Given the description of an element on the screen output the (x, y) to click on. 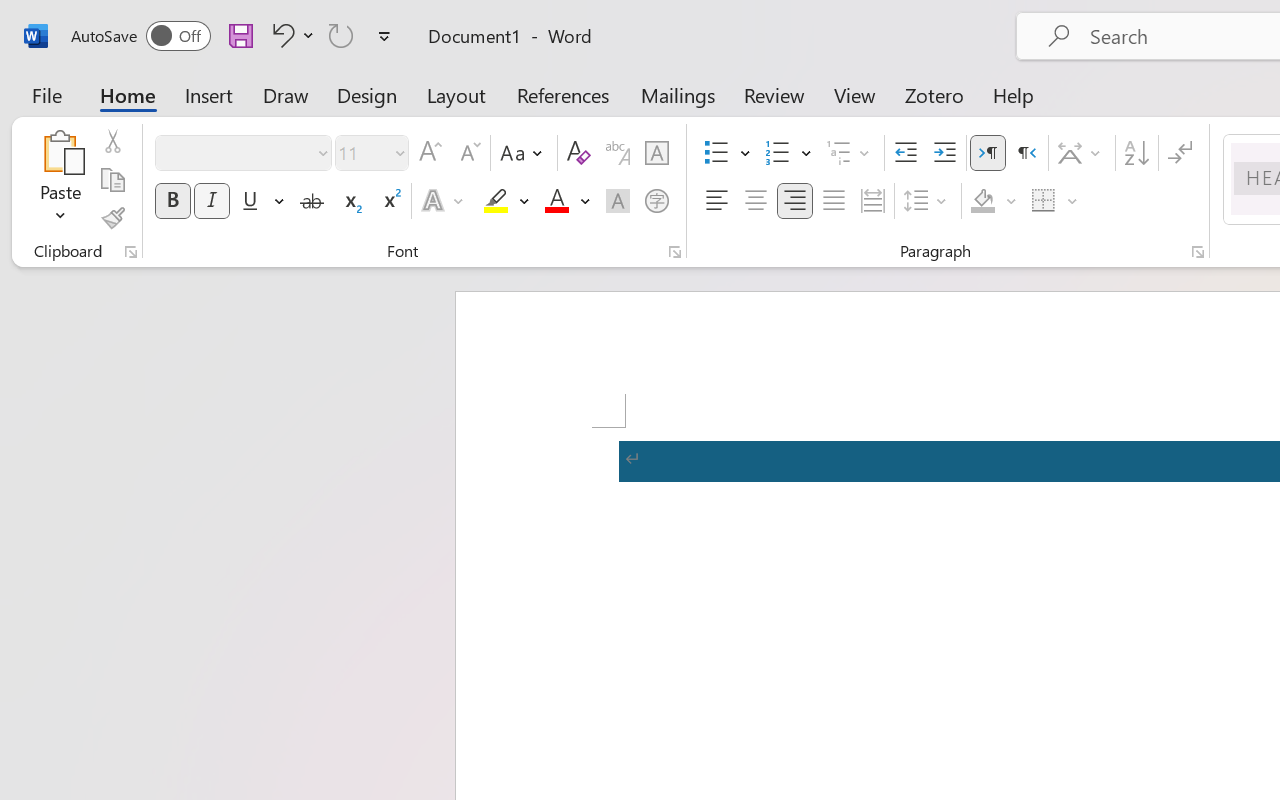
Undo (280, 35)
Font Color RGB(255, 0, 0) (556, 201)
Undo (290, 35)
Right-to-Left (1026, 153)
